Given the description of an element on the screen output the (x, y) to click on. 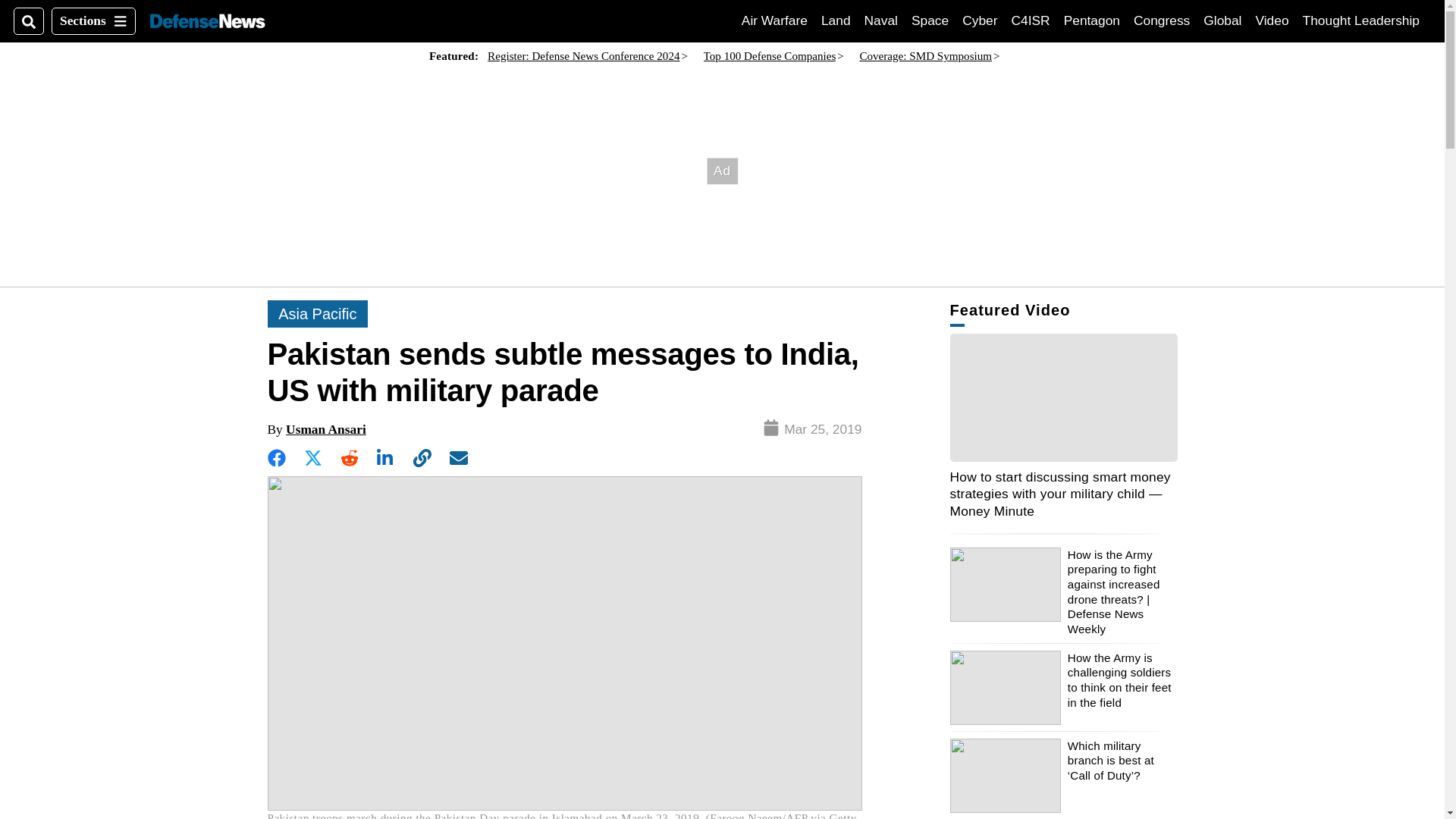
Congress (1030, 20)
Land (1161, 20)
Air Warfare (835, 20)
Thought Leadership (774, 20)
Global (1361, 20)
Space (1222, 20)
Pentagon (930, 20)
Defense News Logo (1091, 20)
Video (207, 21)
